Given the description of an element on the screen output the (x, y) to click on. 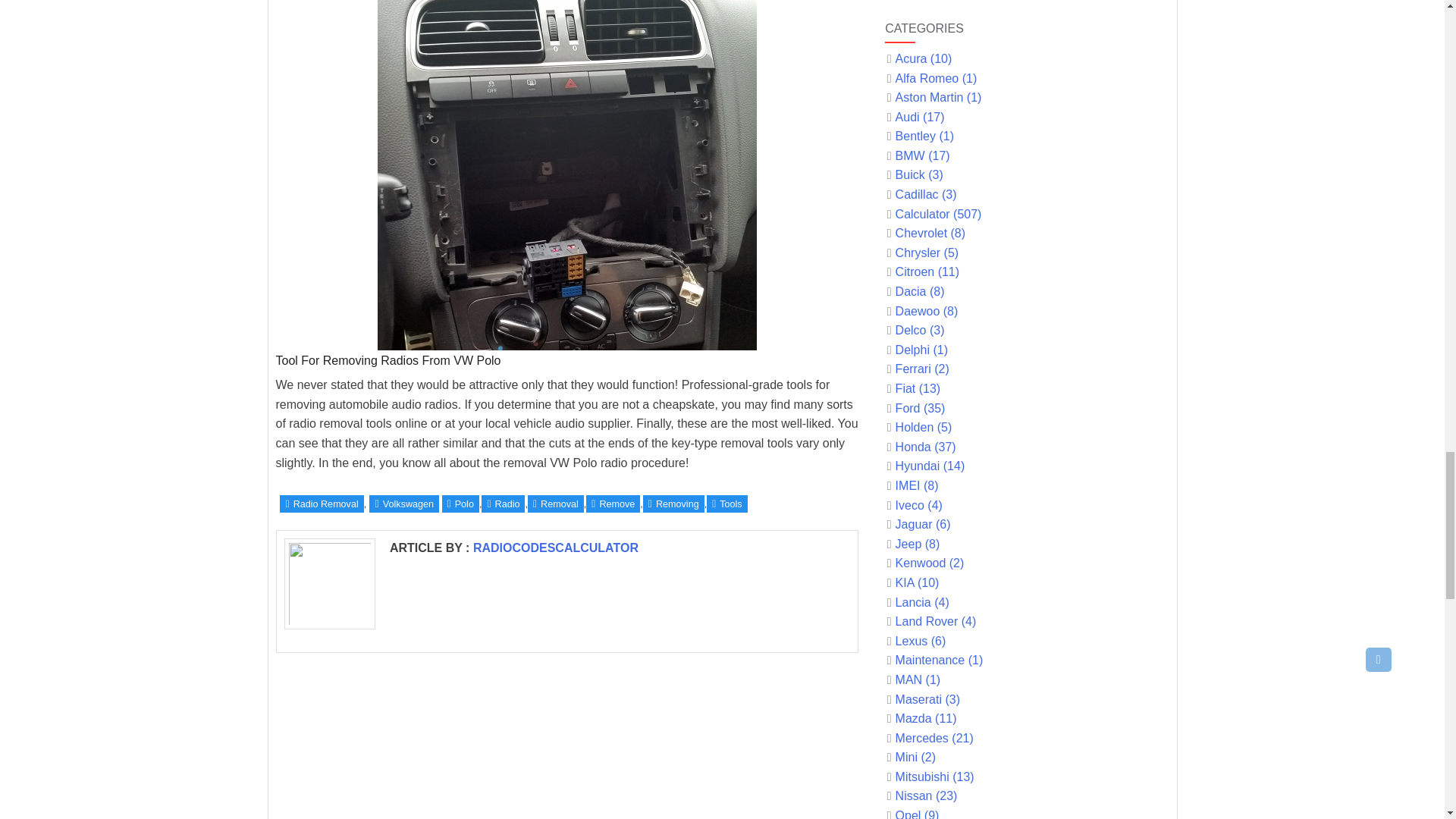
Posts by radiocodescalculator (556, 547)
